Given the description of an element on the screen output the (x, y) to click on. 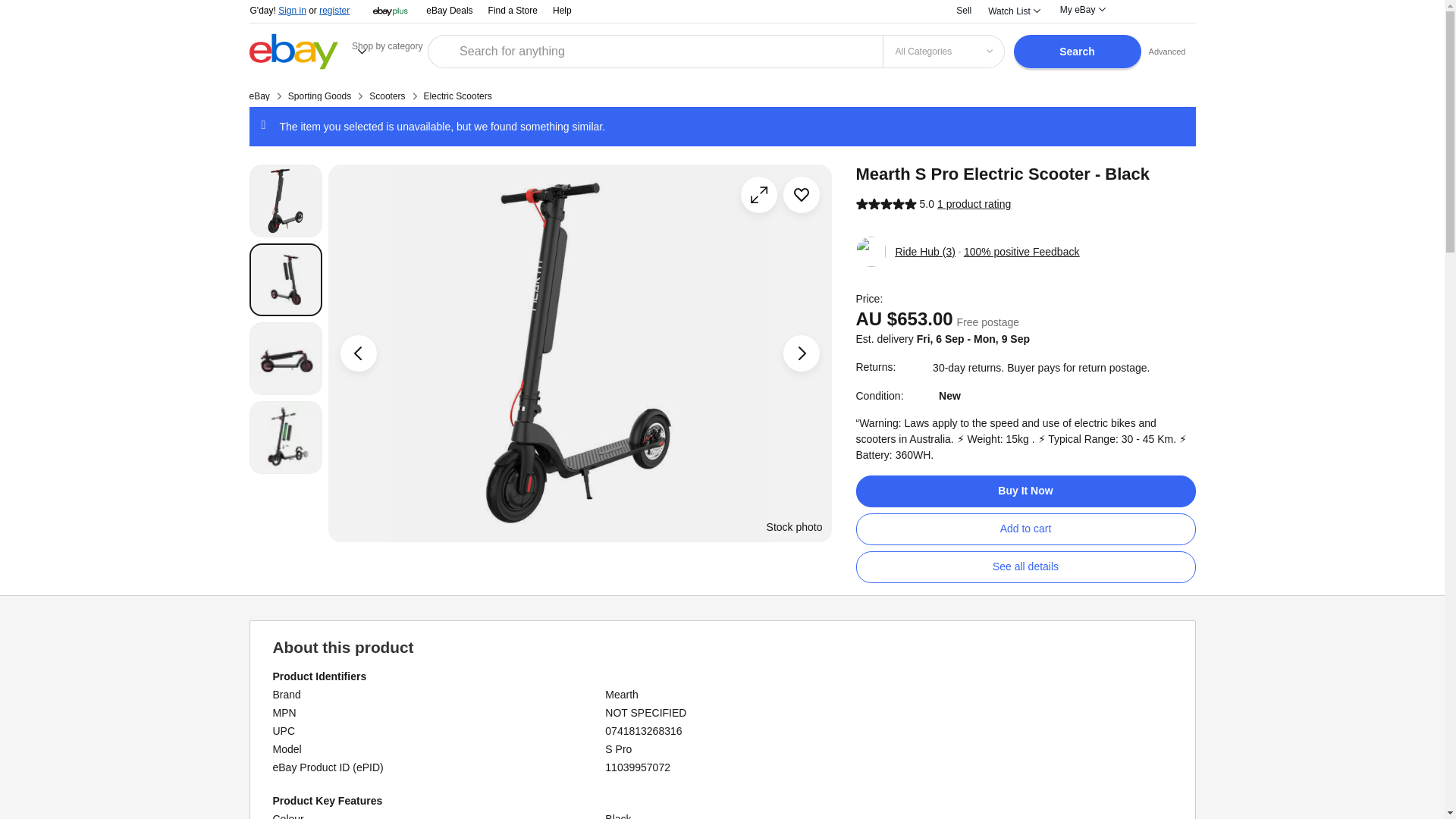
Sign in (291, 9)
Watch List (1012, 10)
My eBay (1081, 9)
Notifications (1136, 11)
Search (1077, 51)
Scooters (386, 95)
Help (562, 9)
Sell (963, 9)
1 product rating (973, 204)
eBay (258, 95)
